Given the description of an element on the screen output the (x, y) to click on. 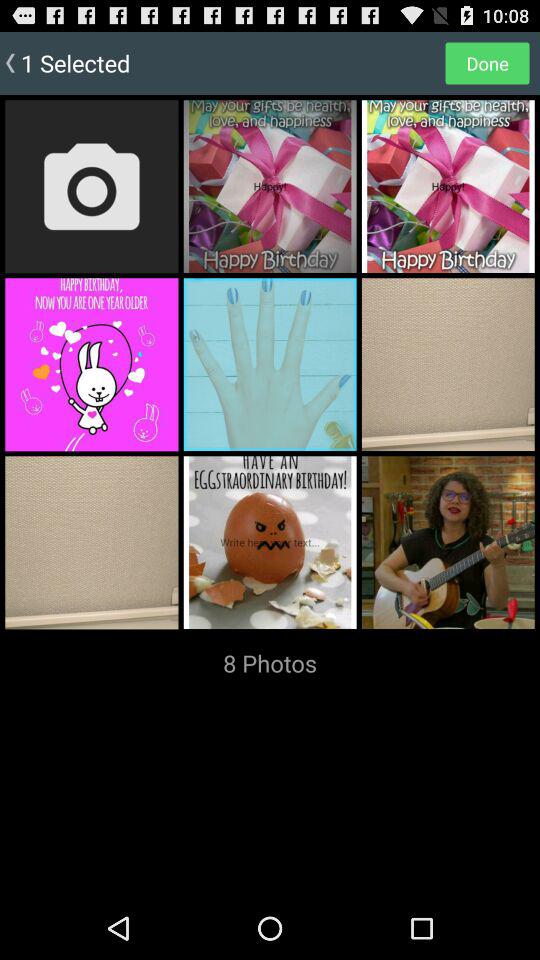
flip to done item (487, 62)
